Given the description of an element on the screen output the (x, y) to click on. 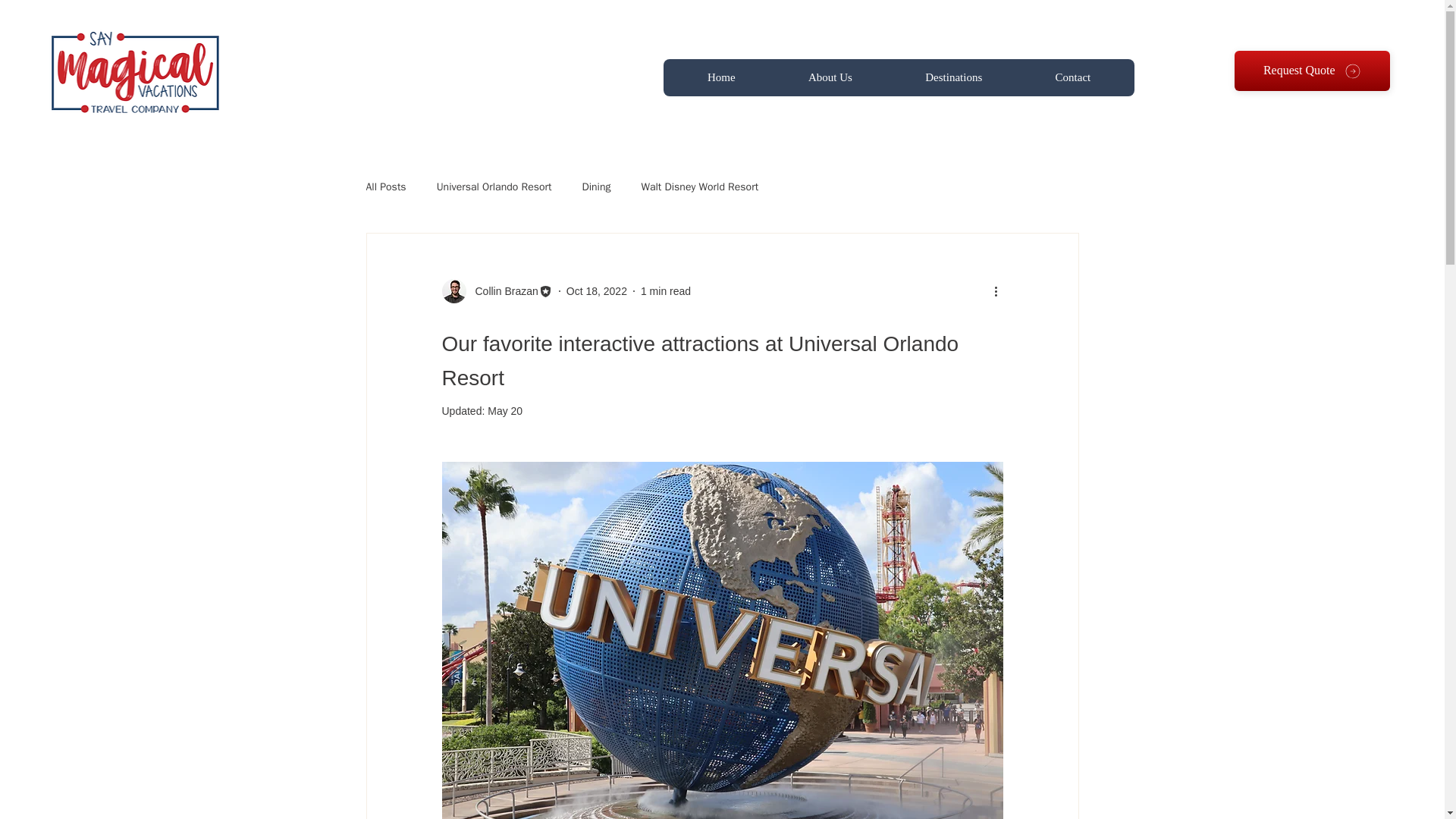
Home (721, 77)
Contact (1071, 77)
May 20 (504, 410)
Oct 18, 2022 (596, 291)
Walt Disney World Resort (699, 187)
Universal Orlando Resort (493, 187)
Dining (595, 187)
1 min read (665, 291)
Collin Brazan (501, 291)
All Posts (385, 187)
Request Quote (1312, 70)
